Given the description of an element on the screen output the (x, y) to click on. 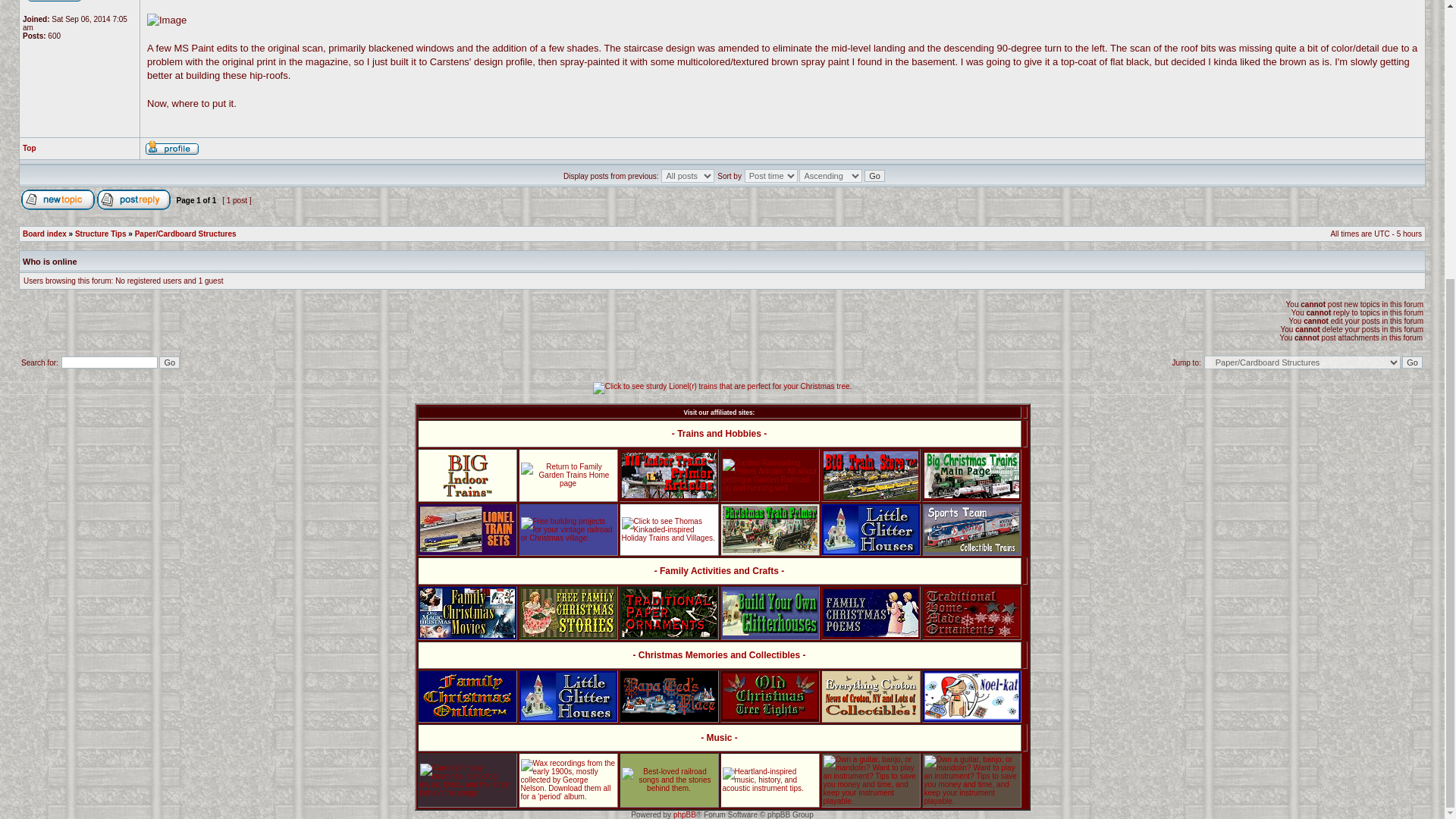
Go (1412, 362)
Go (874, 175)
Go (168, 362)
Structure Tips (100, 234)
Go (1412, 362)
Board index (44, 234)
Go (168, 362)
Profile (171, 147)
Post new topic (57, 199)
Go (874, 175)
Reply to topic (133, 199)
Top (29, 148)
Offline (54, 1)
